Given the description of an element on the screen output the (x, y) to click on. 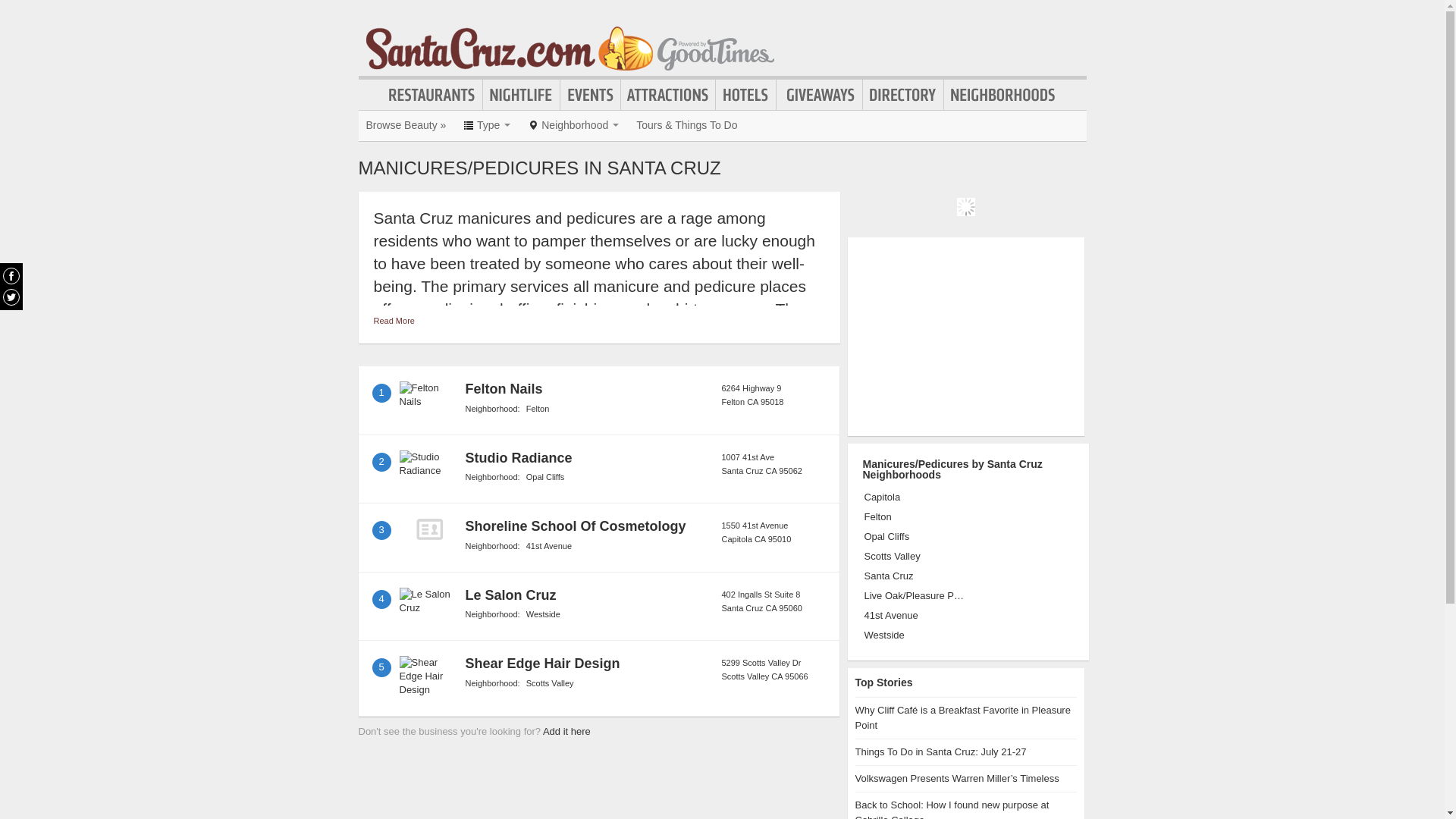
Neighborhoods (1002, 94)
Hotels (746, 94)
Giveaways (818, 94)
Type (487, 124)
Restaurants (431, 94)
Nightlife (521, 94)
Neighborhood (572, 124)
Attractions (667, 94)
Directory (903, 94)
Events (590, 94)
